Given the description of an element on the screen output the (x, y) to click on. 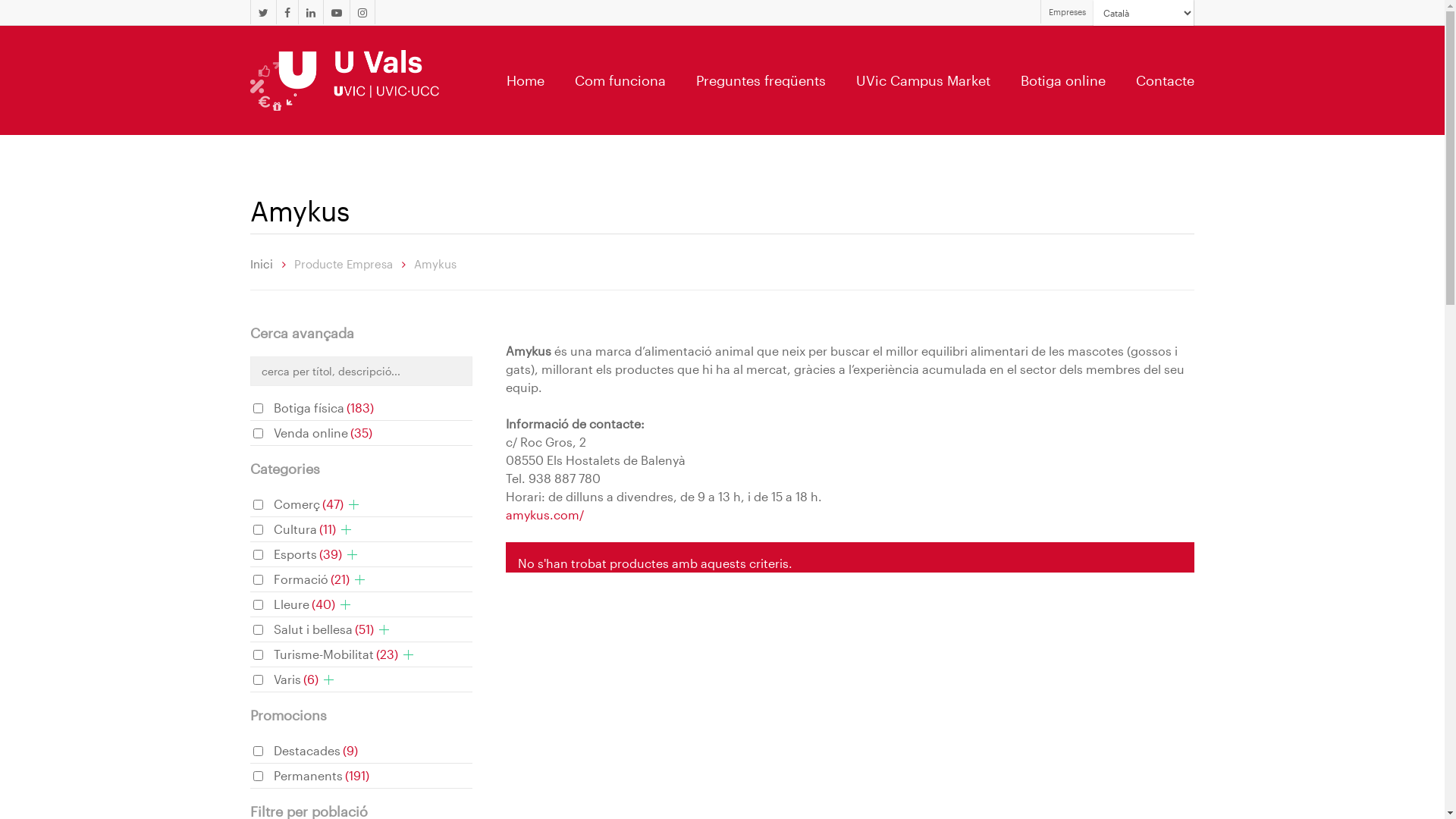
Com funciona Element type: text (619, 80)
Inici Element type: text (261, 263)
Contacte Element type: text (1164, 80)
amykus.com/ Element type: text (544, 514)
Home Element type: text (525, 80)
Botiga online Element type: text (1062, 80)
UVic Campus Market Element type: text (923, 80)
Empreses Element type: text (1066, 11)
